Given the description of an element on the screen output the (x, y) to click on. 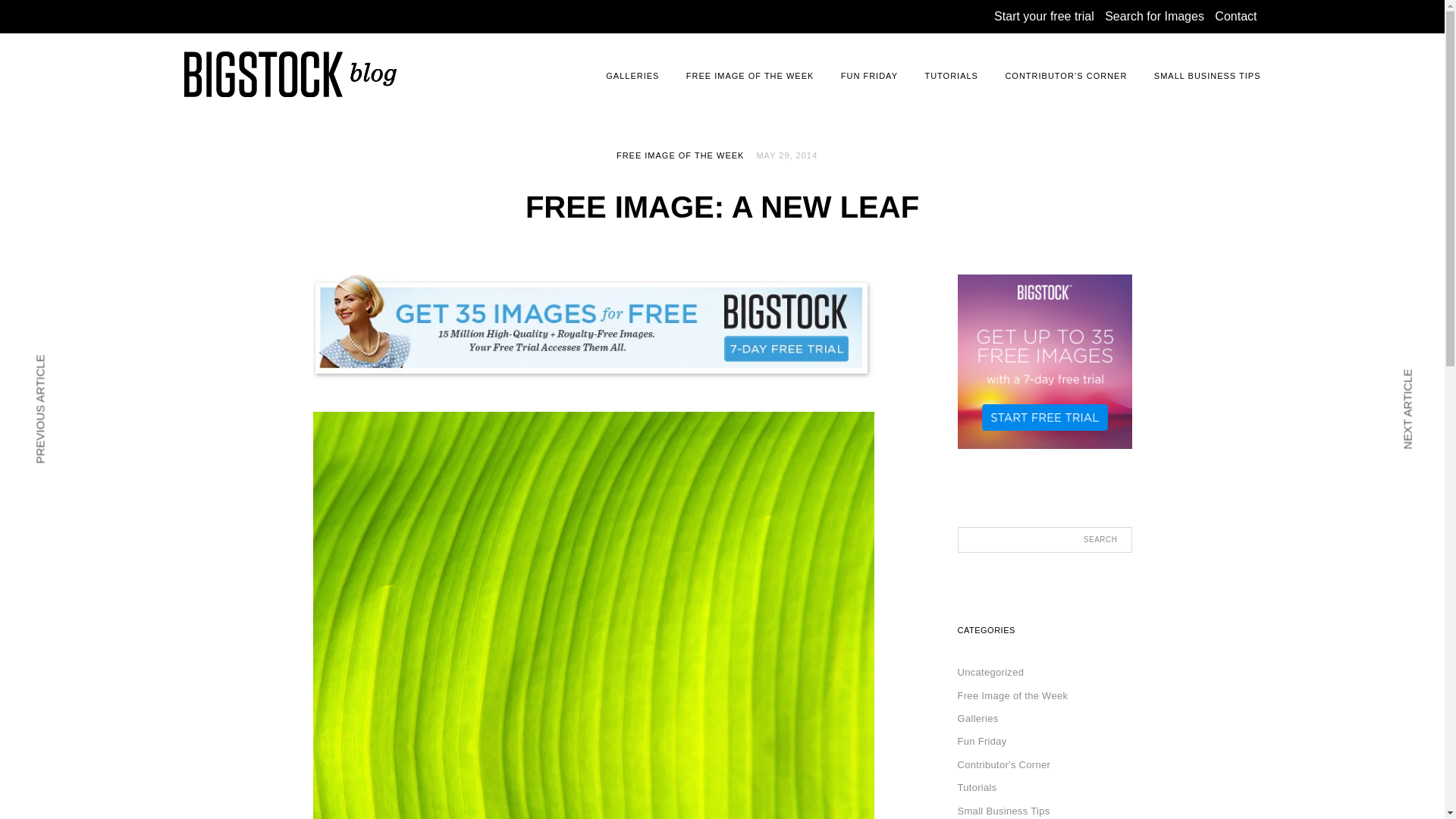
Start your free trial (1044, 15)
Fun Friday (981, 740)
Uncategorized (989, 672)
Galleries (976, 717)
TUTORIALS (951, 75)
Search (1103, 539)
Sandbox (232, 113)
Contact (1235, 15)
Search for Images (1154, 15)
GALLERIES (632, 75)
Contributor's Corner (1002, 764)
FREE IMAGE OF THE WEEK (679, 154)
Search (1103, 539)
FUN FRIDAY (869, 75)
Tutorials (975, 787)
